Given the description of an element on the screen output the (x, y) to click on. 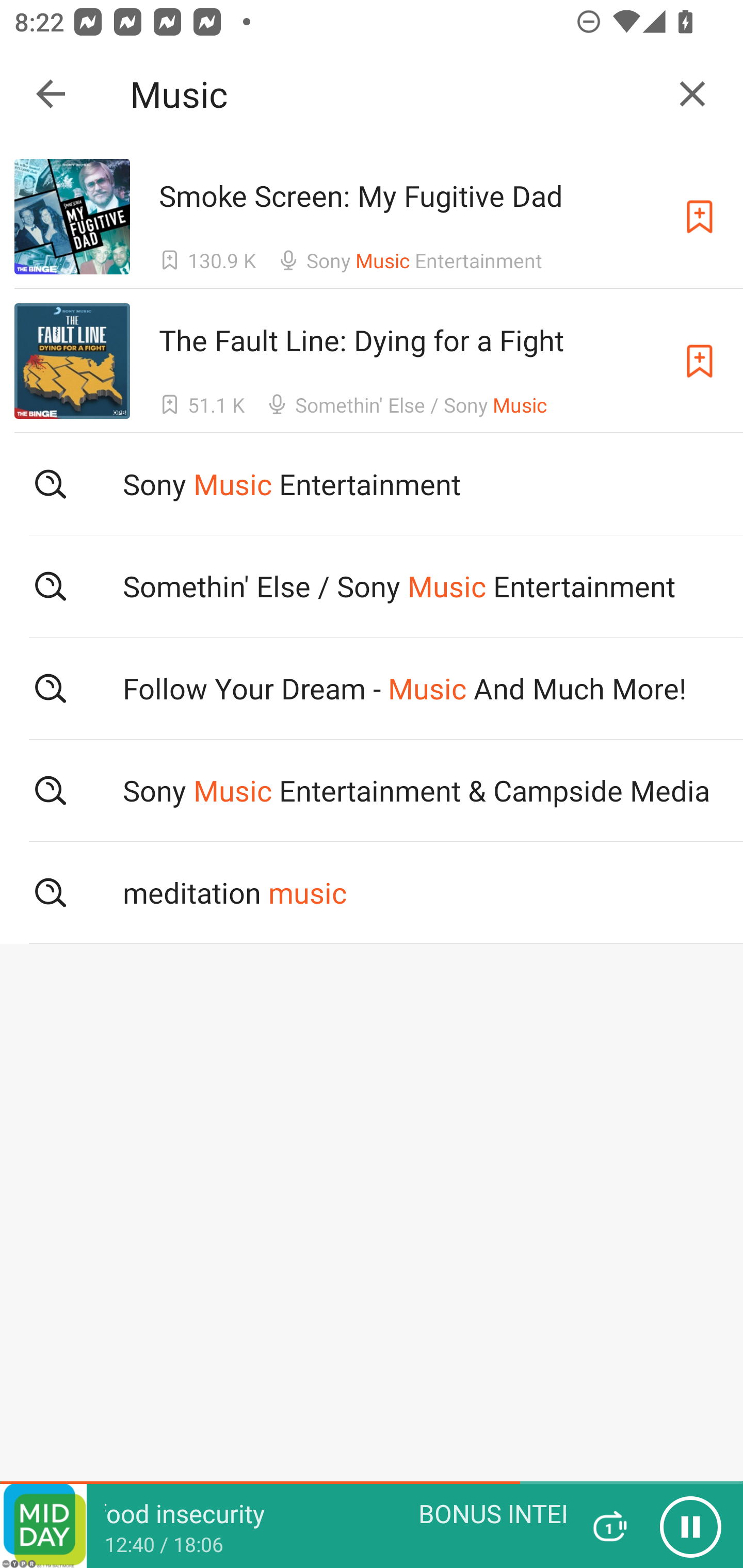
Collapse (50, 93)
Clear query (692, 93)
Music (393, 94)
Subscribe (699, 216)
Subscribe (699, 360)
 Sony Music Entertainment (371, 483)
 Somethin' Else / Sony Music Entertainment (371, 585)
 Follow Your Dream - Music And Much More! (371, 688)
 Sony Music Entertainment & Campside Media (371, 791)
 meditation music (371, 892)
Pause (690, 1526)
